Given the description of an element on the screen output the (x, y) to click on. 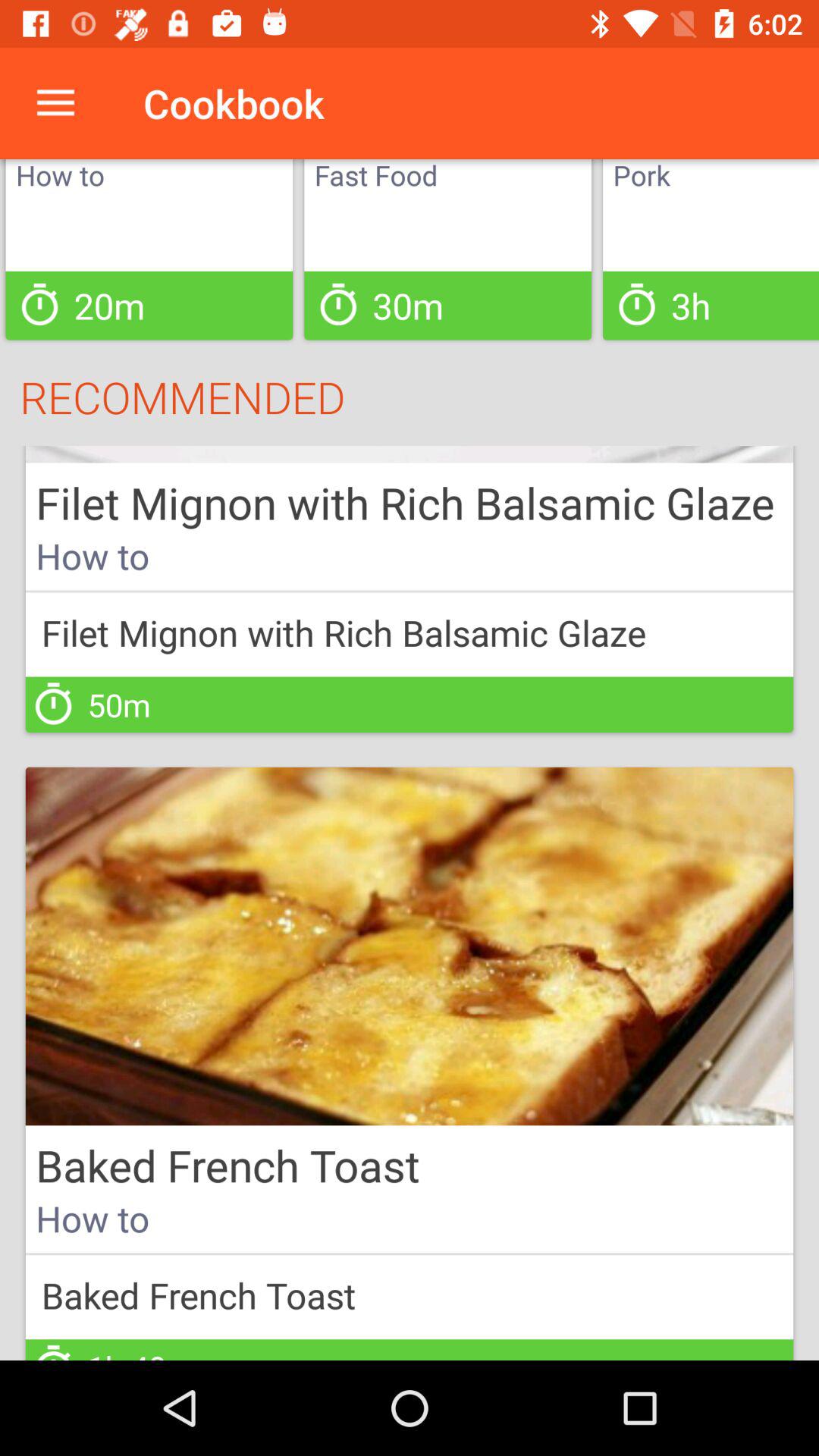
tap icon next to cookbook (55, 103)
